Given the description of an element on the screen output the (x, y) to click on. 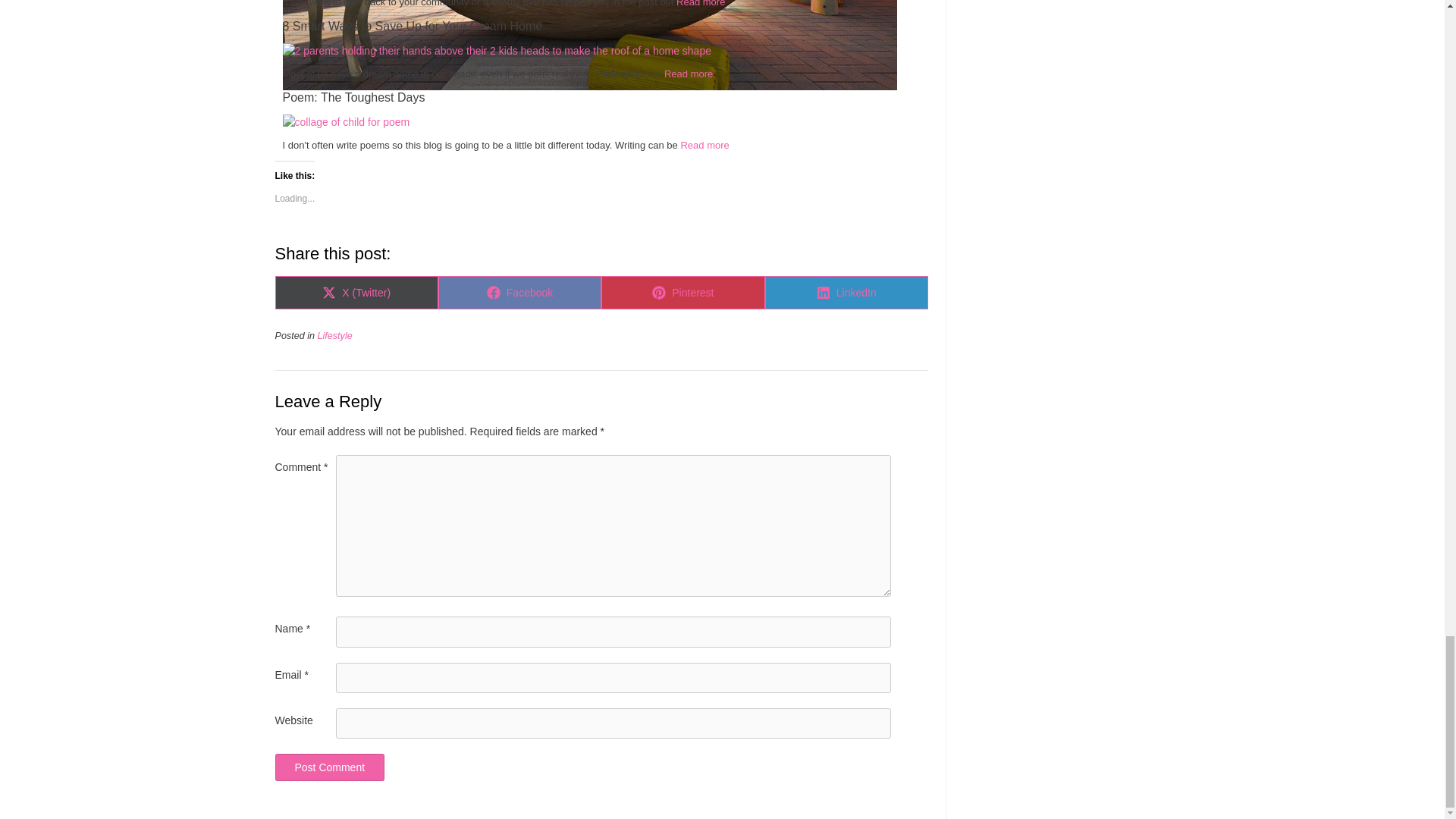
5 Modern Ways To Update Your Bathroom (589, 86)
8 Smart Ways to Save Up for Your Dream Home (601, 26)
8 Smart Ways to Save Up for Your Dream Home (496, 50)
Post Comment (329, 767)
8 Smart Ways to Save Up for Your Dream Home (601, 26)
Read more (701, 3)
